Given the description of an element on the screen output the (x, y) to click on. 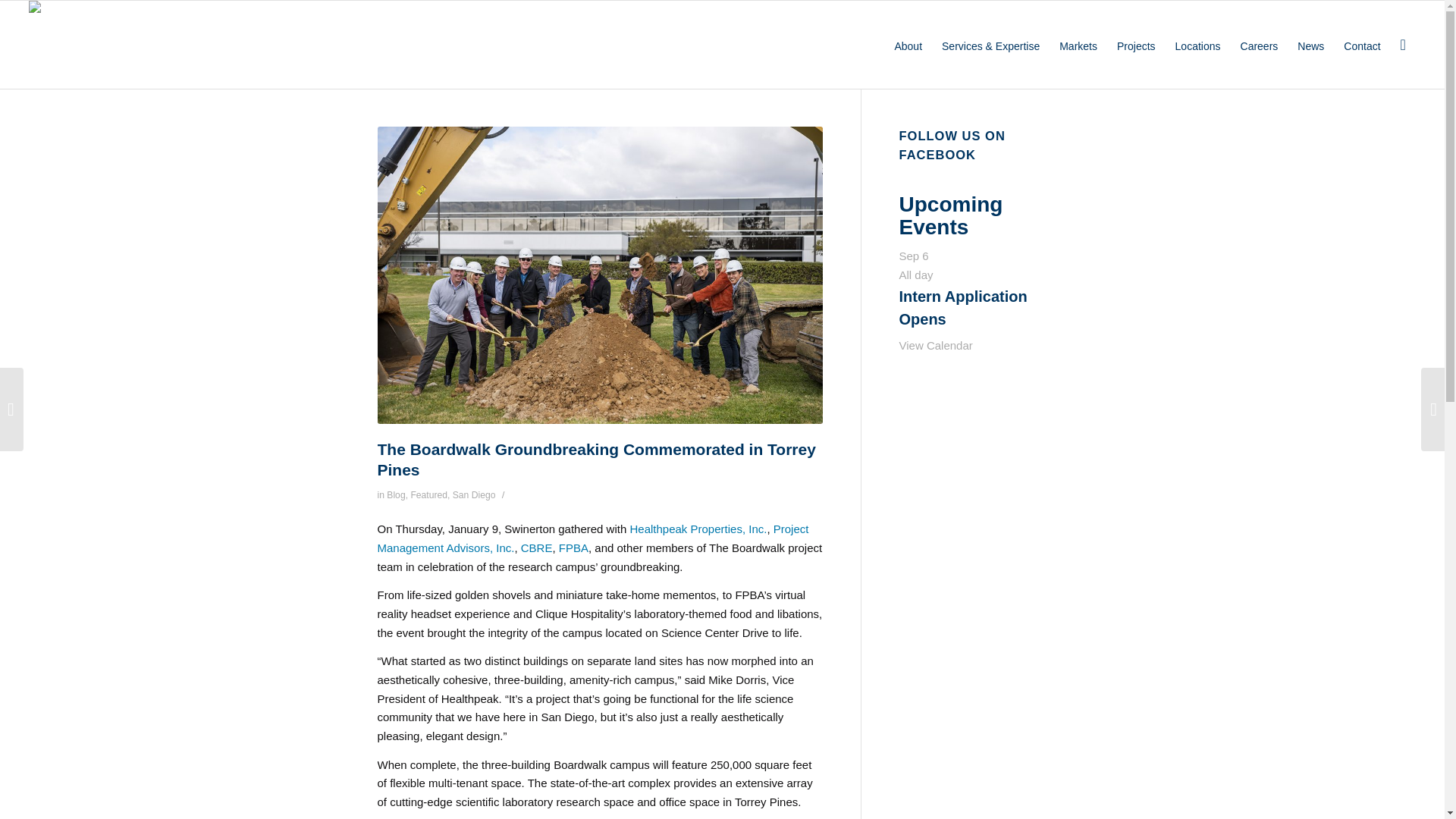
View Calendar (935, 345)
Project Management Advisors, Inc. (593, 538)
San Diego (474, 494)
FPBA (573, 547)
Intern Application Opens (963, 307)
Featured (428, 494)
Blog (395, 494)
CBRE (537, 547)
The Boardwalk Groundbreaking Commemorated in Torrey Pines (596, 459)
